Given the description of an element on the screen output the (x, y) to click on. 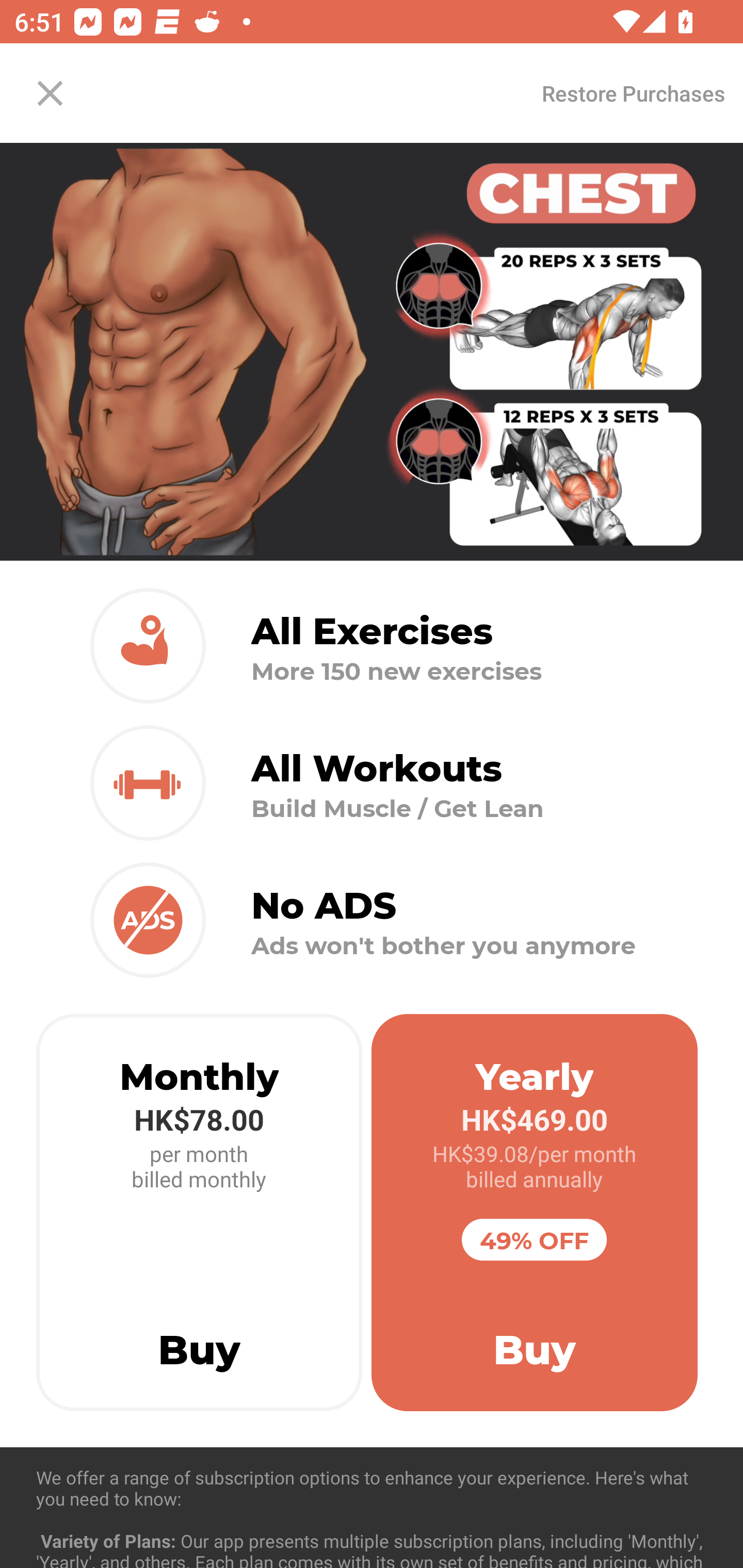
Restore Purchases (632, 92)
Monthly HK$78.00 per month
billed monthly Buy (199, 1212)
